Given the description of an element on the screen output the (x, y) to click on. 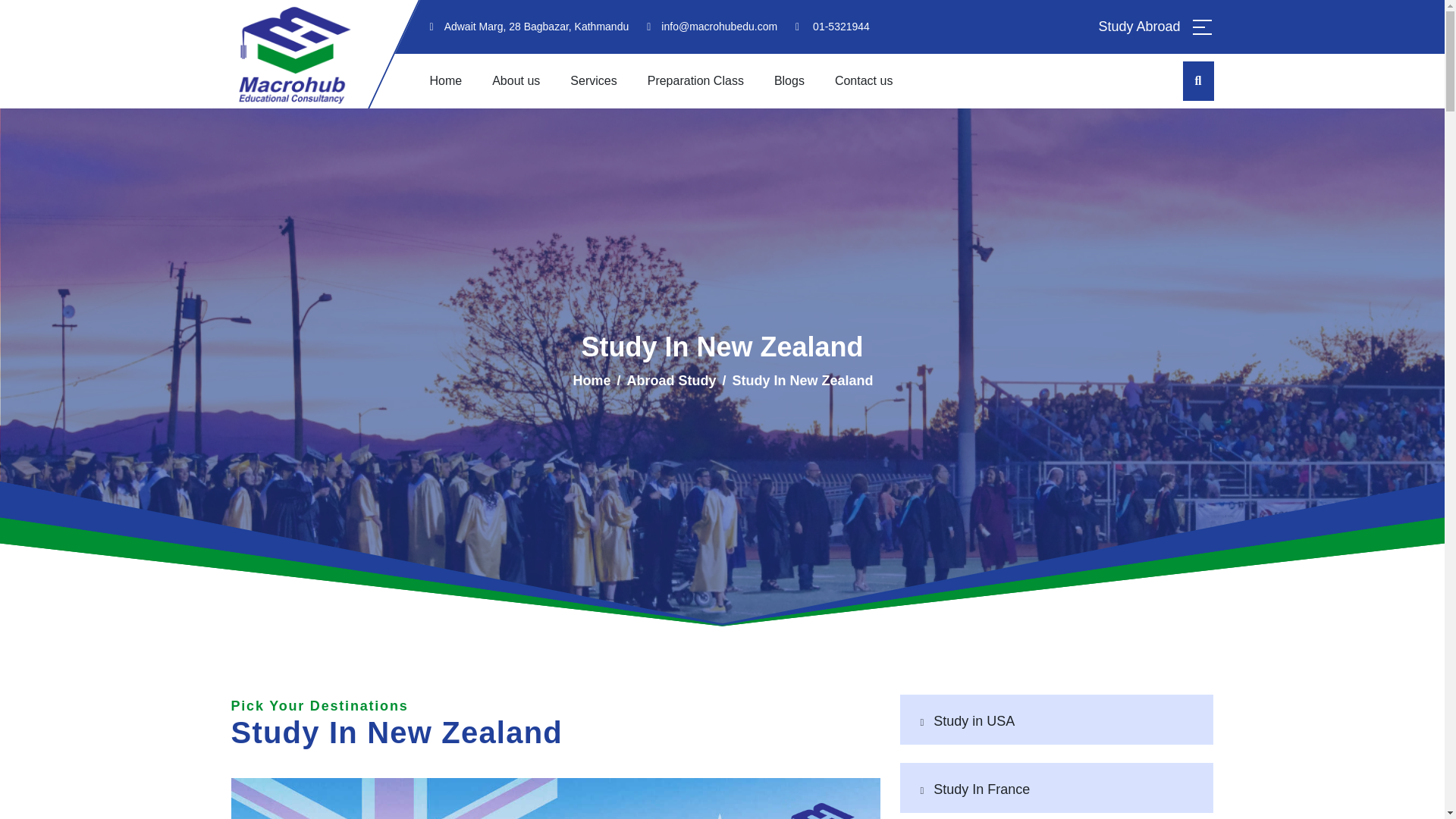
Study In France (981, 789)
Home (445, 81)
Home (591, 380)
Preparation Class (695, 81)
About us (516, 81)
Study in USA (973, 720)
Blogs (789, 81)
01-5321944 (840, 26)
Services (592, 81)
Contact us (863, 81)
Abroad Study (671, 380)
